Given the description of an element on the screen output the (x, y) to click on. 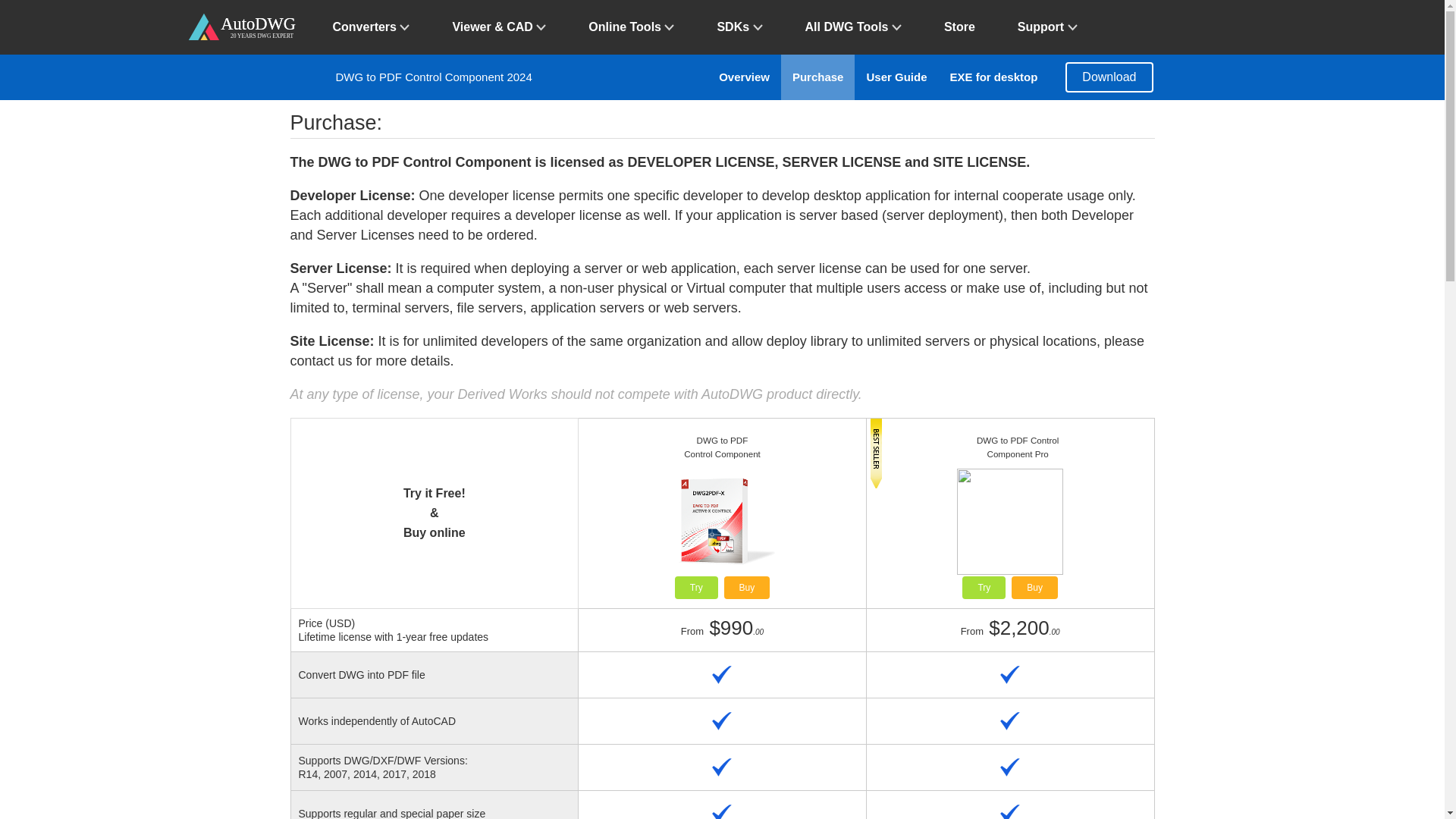
DWG2PDFX (746, 587)
Converters (371, 27)
All DWG Tools (853, 27)
DWG2PDFXPro (1034, 587)
Online Tools (630, 27)
SDKs (739, 27)
